Given the description of an element on the screen output the (x, y) to click on. 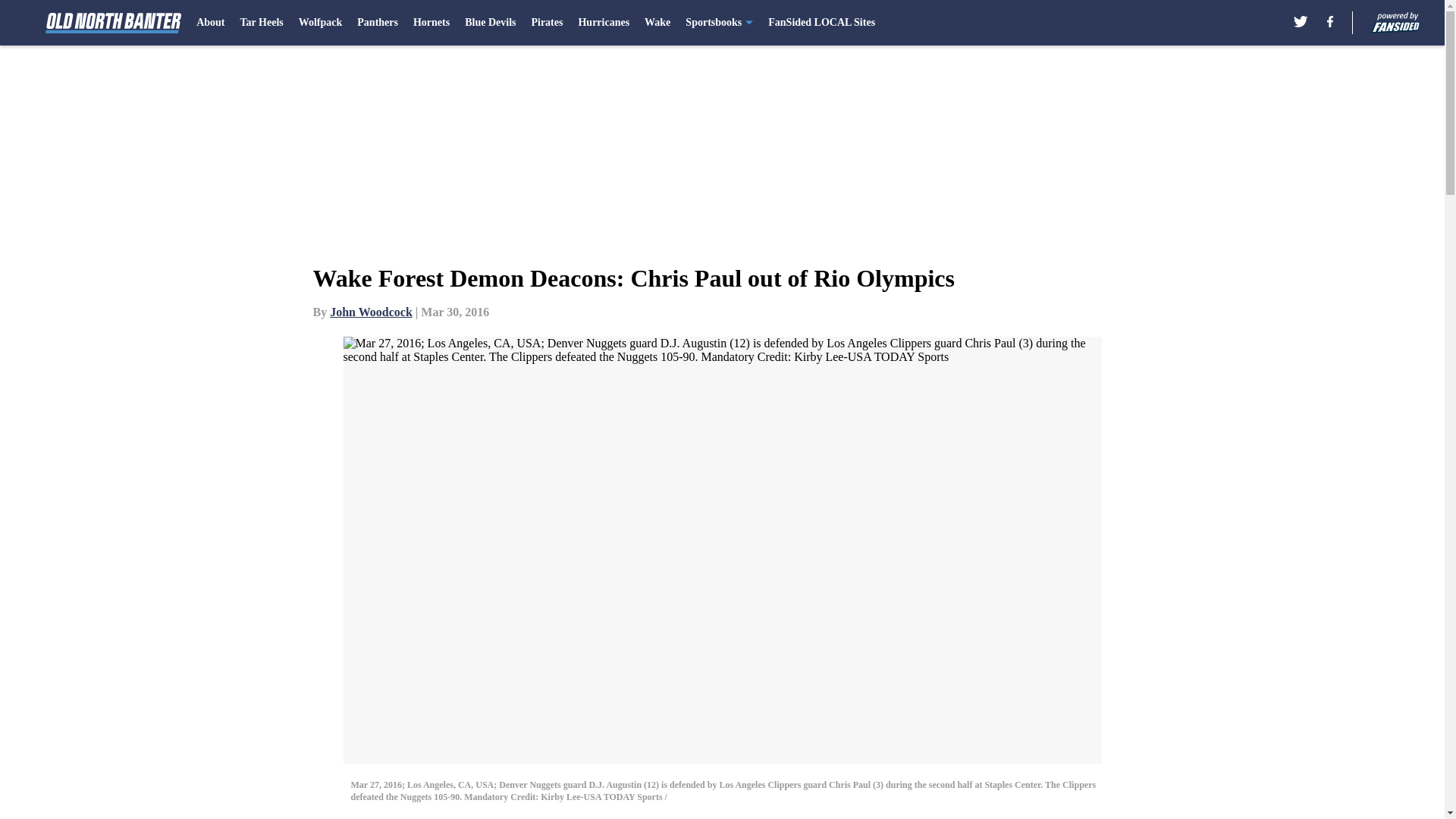
Wolfpack (320, 22)
About (210, 22)
Hornets (431, 22)
Pirates (546, 22)
Wake (657, 22)
John Woodcock (371, 311)
Blue Devils (489, 22)
Tar Heels (261, 22)
Panthers (376, 22)
FanSided LOCAL Sites (821, 22)
Hurricanes (603, 22)
